Given the description of an element on the screen output the (x, y) to click on. 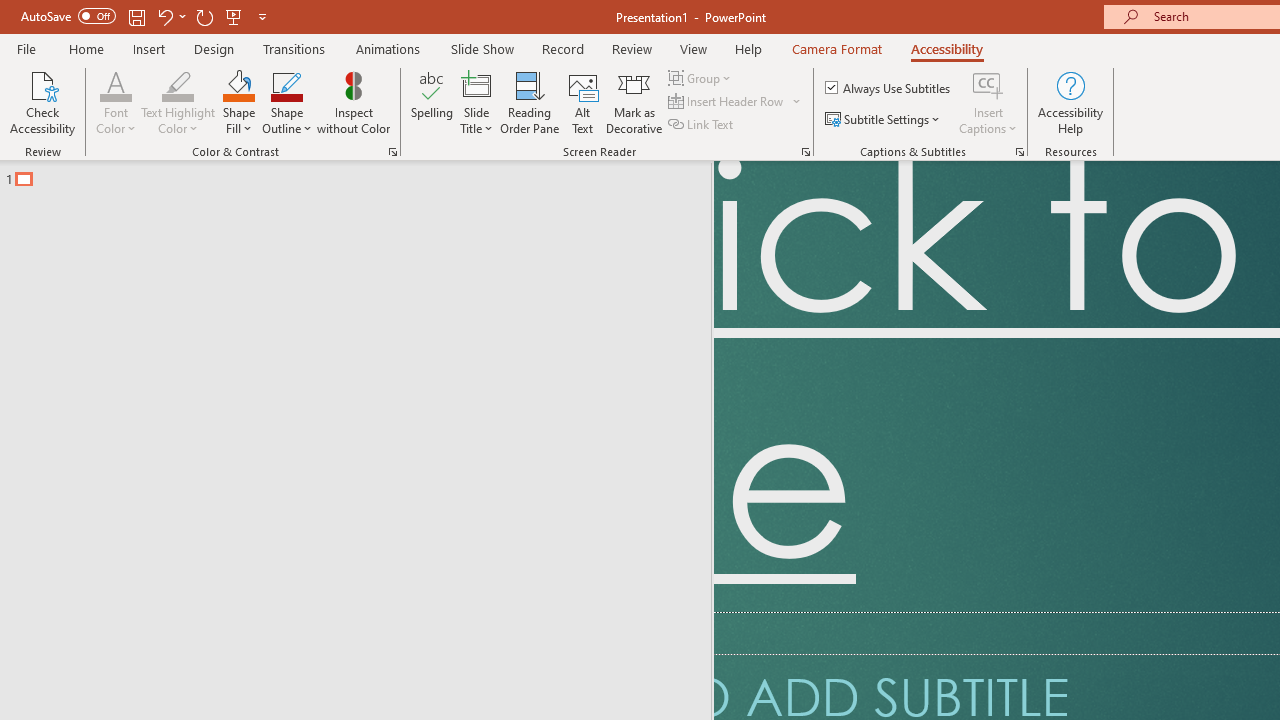
Mark as Decorative (634, 102)
Camera Format (836, 48)
Screen Reader (805, 151)
